Given the description of an element on the screen output the (x, y) to click on. 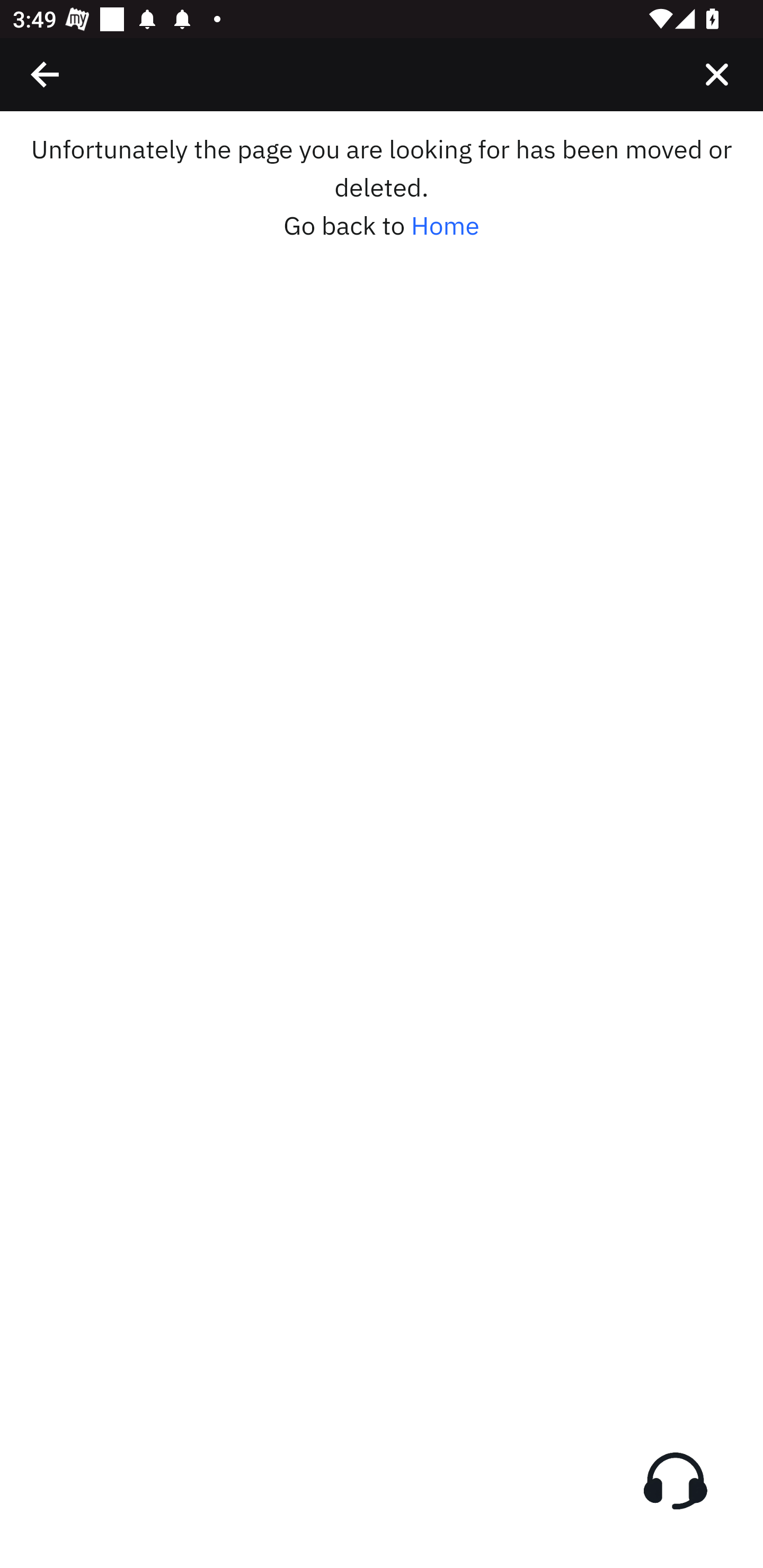
 (46, 74)
 (716, 74)
Home (444, 225)
Nova Your Virtual Assistant! button (674, 1480)
